Given the description of an element on the screen output the (x, y) to click on. 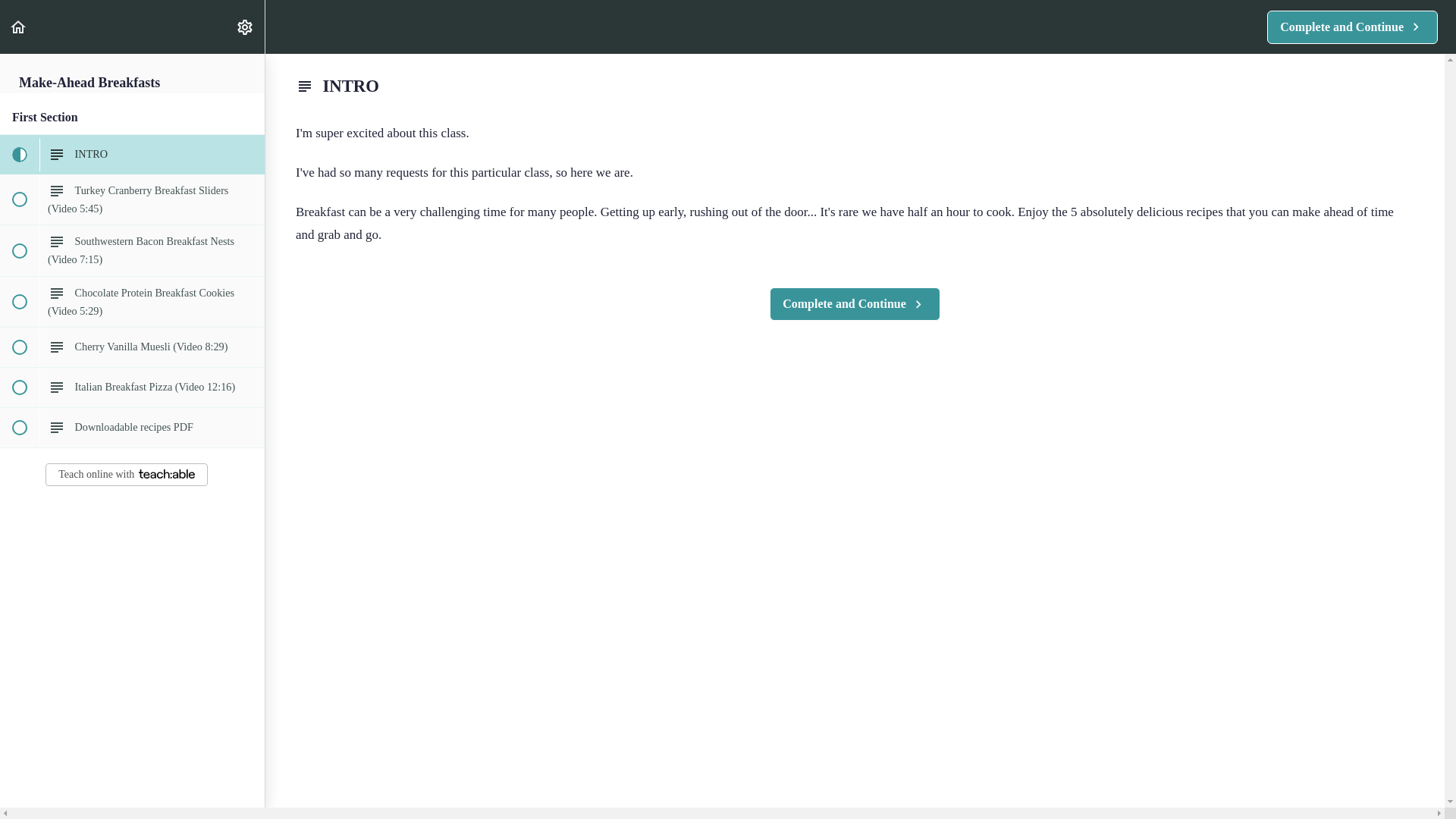
  Downloadable recipes PDF (132, 427)
Teach online with (855, 304)
Settings Menu (126, 474)
Back to course curriculum (244, 27)
  INTRO (17, 27)
